Given the description of an element on the screen output the (x, y) to click on. 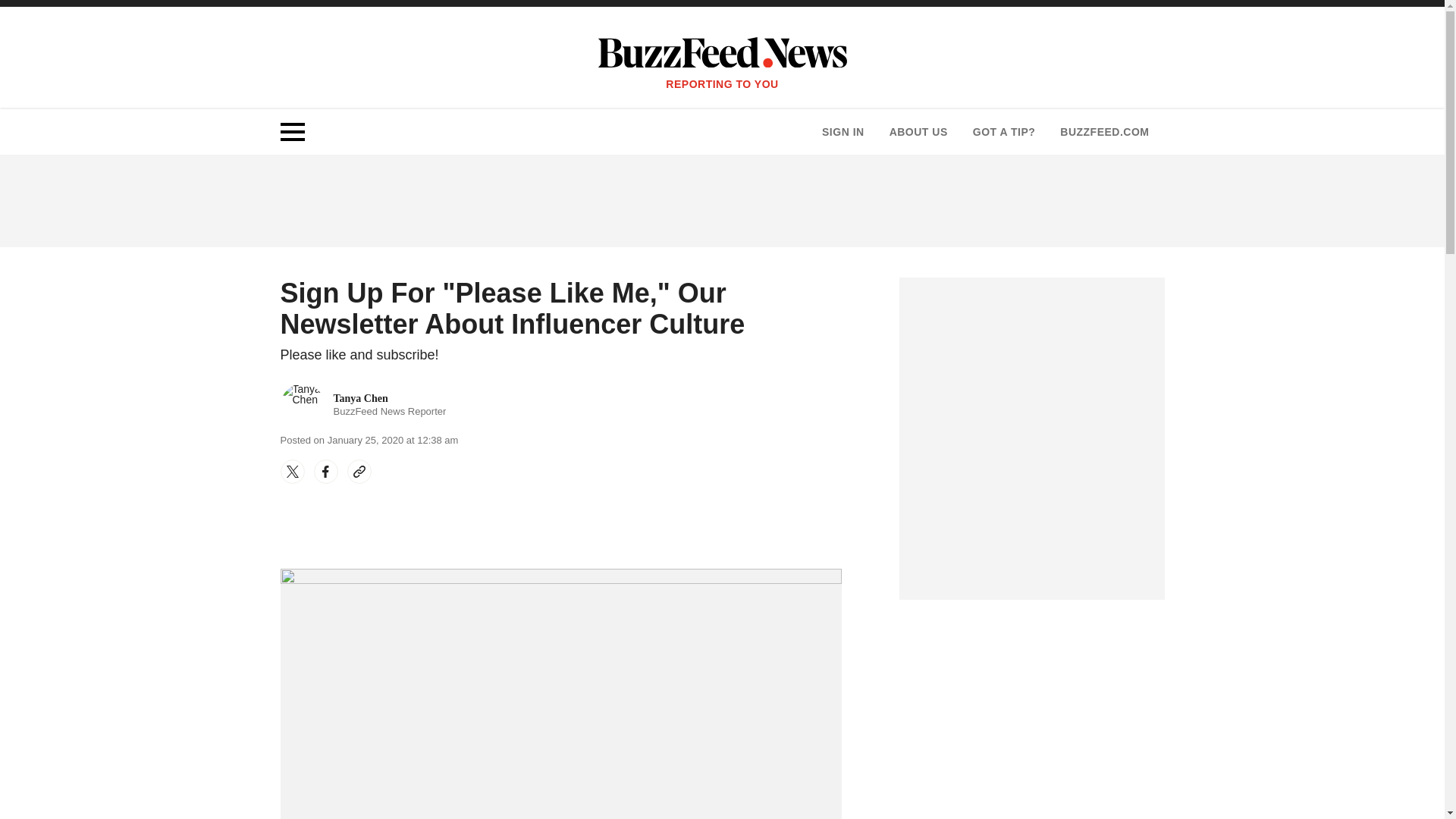
ABOUT US (917, 131)
GOT A TIP? (363, 405)
BUZZFEED.COM (1003, 131)
SIGN IN (1103, 131)
